Given the description of an element on the screen output the (x, y) to click on. 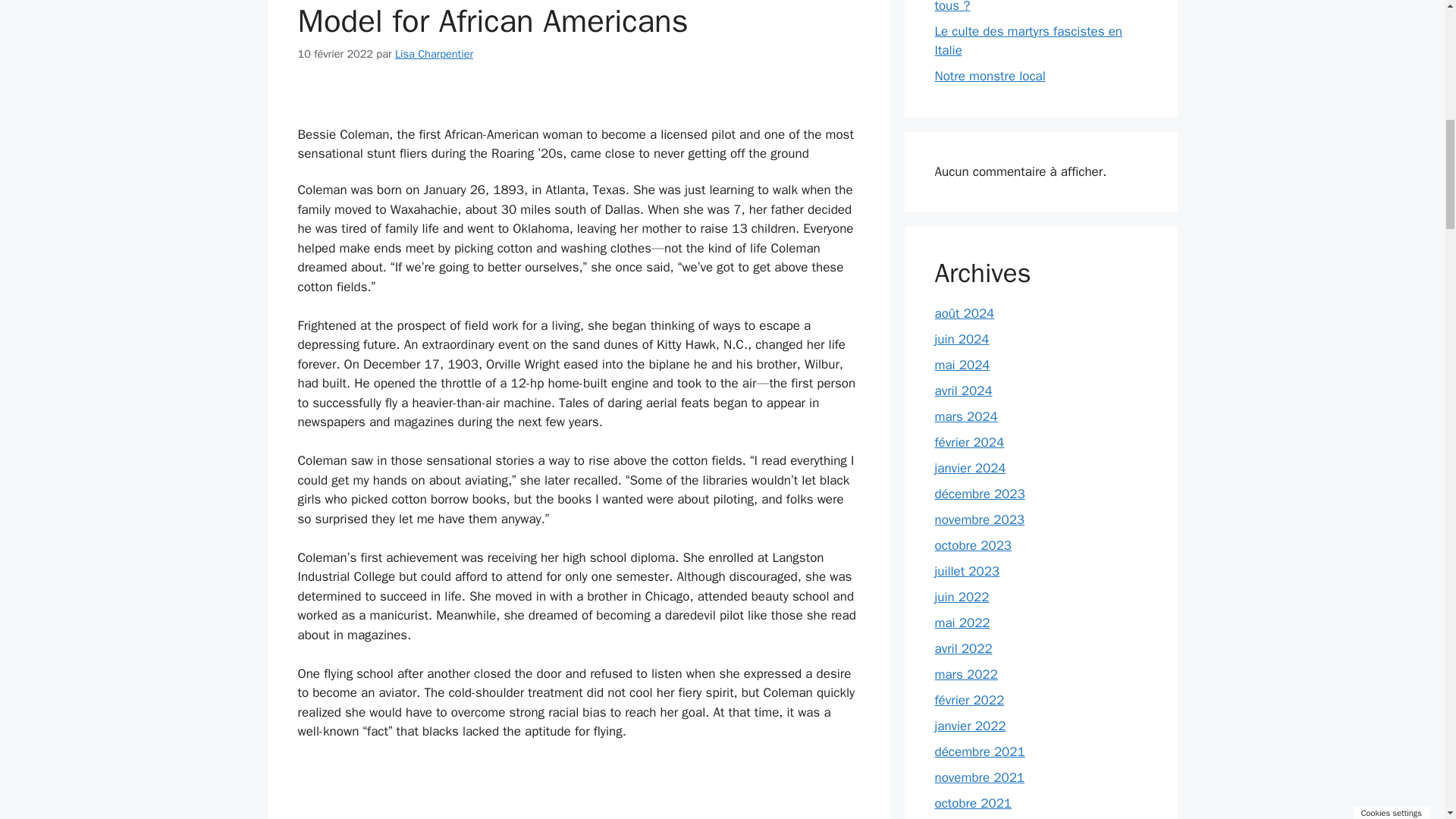
janvier 2024 (970, 467)
Richard III et la justice royale pour tous ? (1029, 6)
Notre monstre local (989, 75)
octobre 2023 (972, 545)
mars 2024 (965, 416)
janvier 2022 (970, 725)
mai 2024 (962, 365)
mai 2022 (962, 622)
avril 2022 (962, 648)
mars 2022 (965, 674)
